Given the description of an element on the screen output the (x, y) to click on. 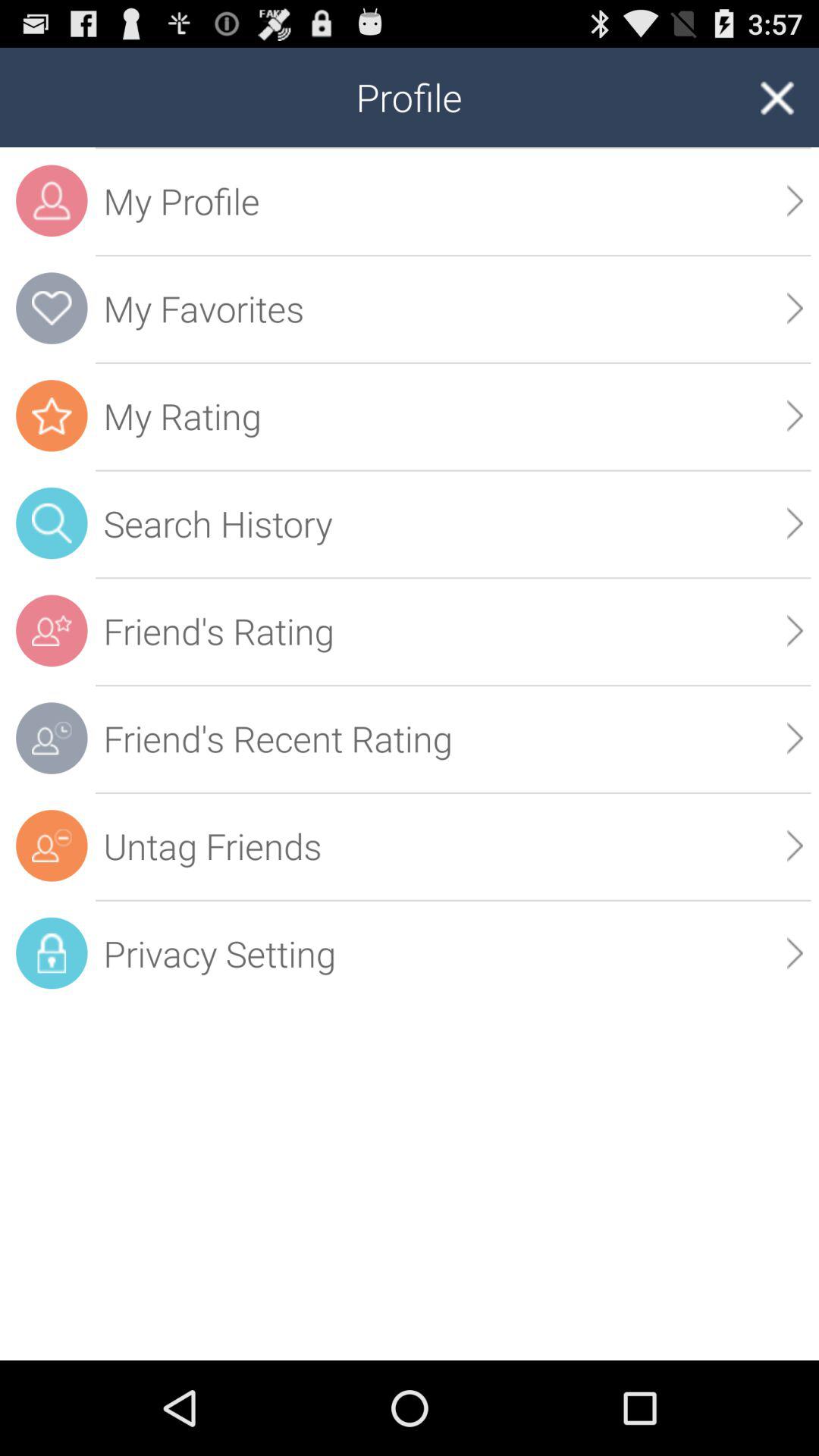
launch the icon below the friend s recent icon (453, 845)
